Given the description of an element on the screen output the (x, y) to click on. 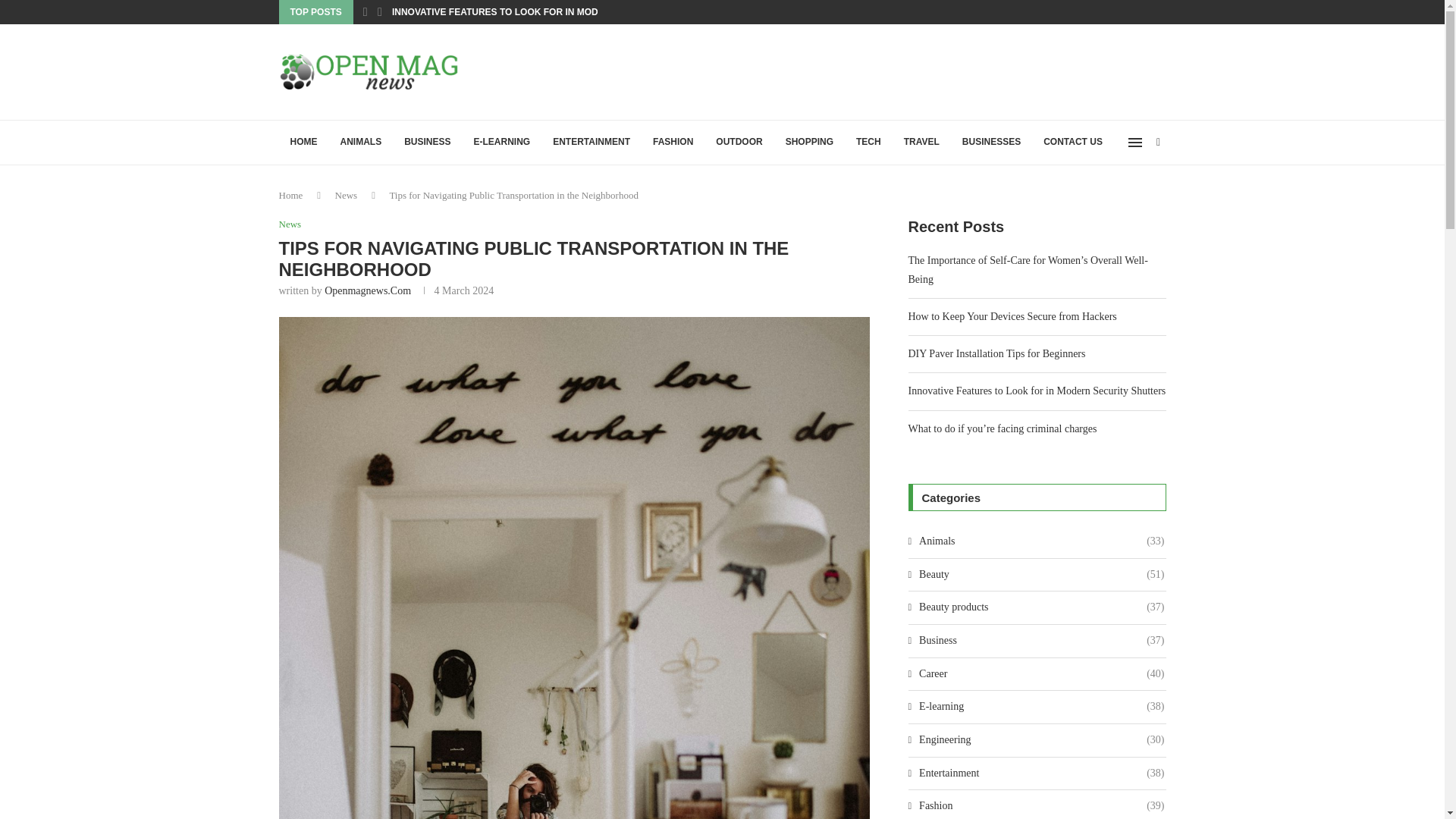
BUSINESS (427, 142)
SHOPPING (809, 142)
FASHION (673, 142)
TRAVEL (921, 142)
Home (290, 194)
INNOVATIVE FEATURES TO LOOK FOR IN MODERN SECURITY... (531, 12)
BUSINESSES (991, 142)
ANIMALS (361, 142)
HOME (304, 142)
E-LEARNING (502, 142)
OUTDOOR (738, 142)
TECH (868, 142)
CONTACT US (1072, 142)
ENTERTAINMENT (591, 142)
